Given the description of an element on the screen output the (x, y) to click on. 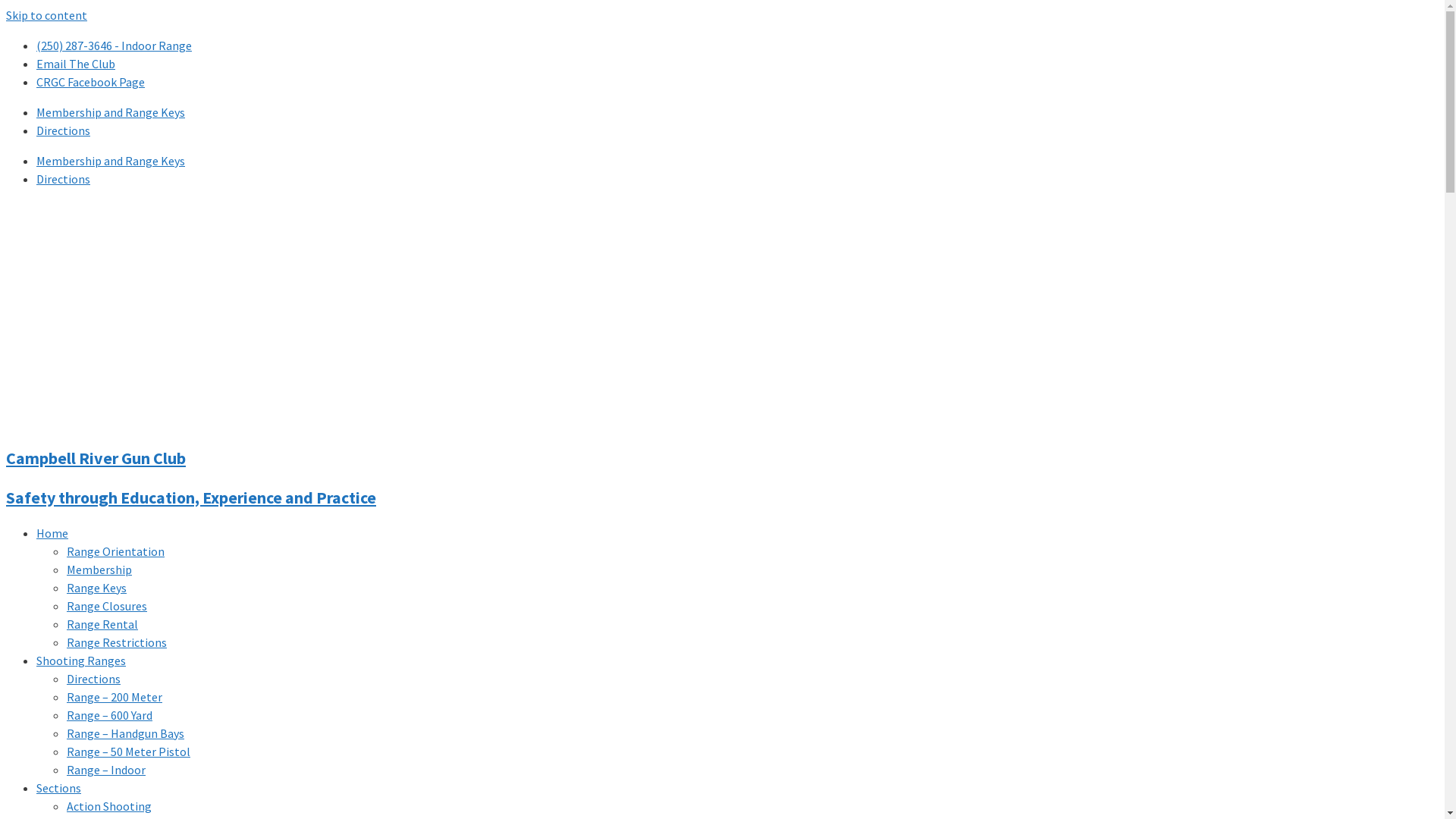
Directions Element type: text (63, 178)
(250) 287-3646 - Indoor Range Element type: text (113, 45)
CRGC Facebook Page Element type: text (90, 81)
Directions Element type: text (93, 678)
Action Shooting Element type: text (108, 805)
Membership and Range Keys Element type: text (110, 160)
Email The Club Element type: text (75, 63)
Membership and Range Keys Element type: text (110, 111)
Range Restrictions Element type: text (116, 641)
Shooting Ranges Element type: text (80, 660)
Range Keys Element type: text (96, 587)
Home Element type: text (52, 532)
Skip to content Element type: text (46, 14)
Campbell River Gun Club Element type: text (95, 457)
Directions Element type: text (63, 130)
Range Rental Element type: text (102, 623)
Range Closures Element type: text (106, 605)
Range Orientation Element type: text (115, 550)
Safety through Education, Experience and Practice Element type: text (191, 497)
Membership Element type: text (98, 569)
Sections Element type: text (58, 787)
